Given the description of an element on the screen output the (x, y) to click on. 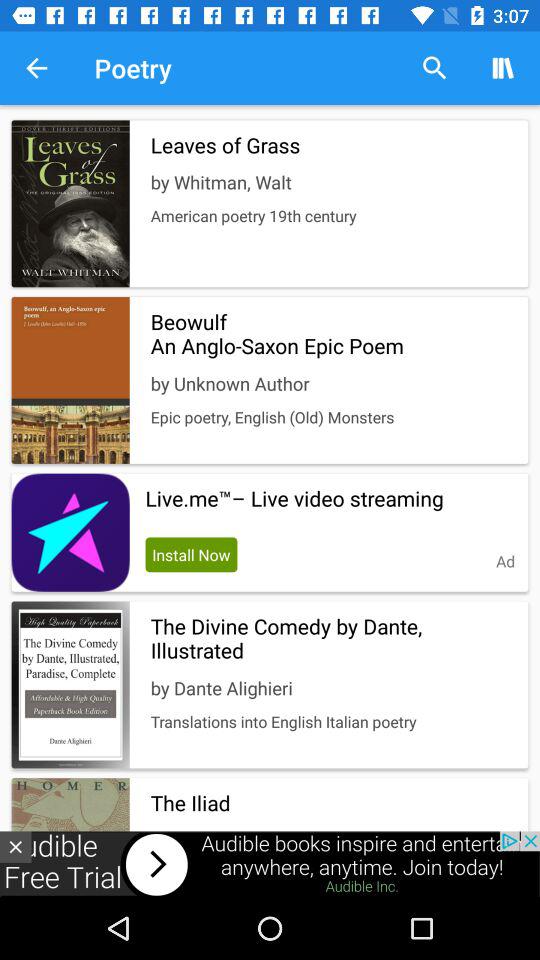
close advertisement (15, 846)
